Given the description of an element on the screen output the (x, y) to click on. 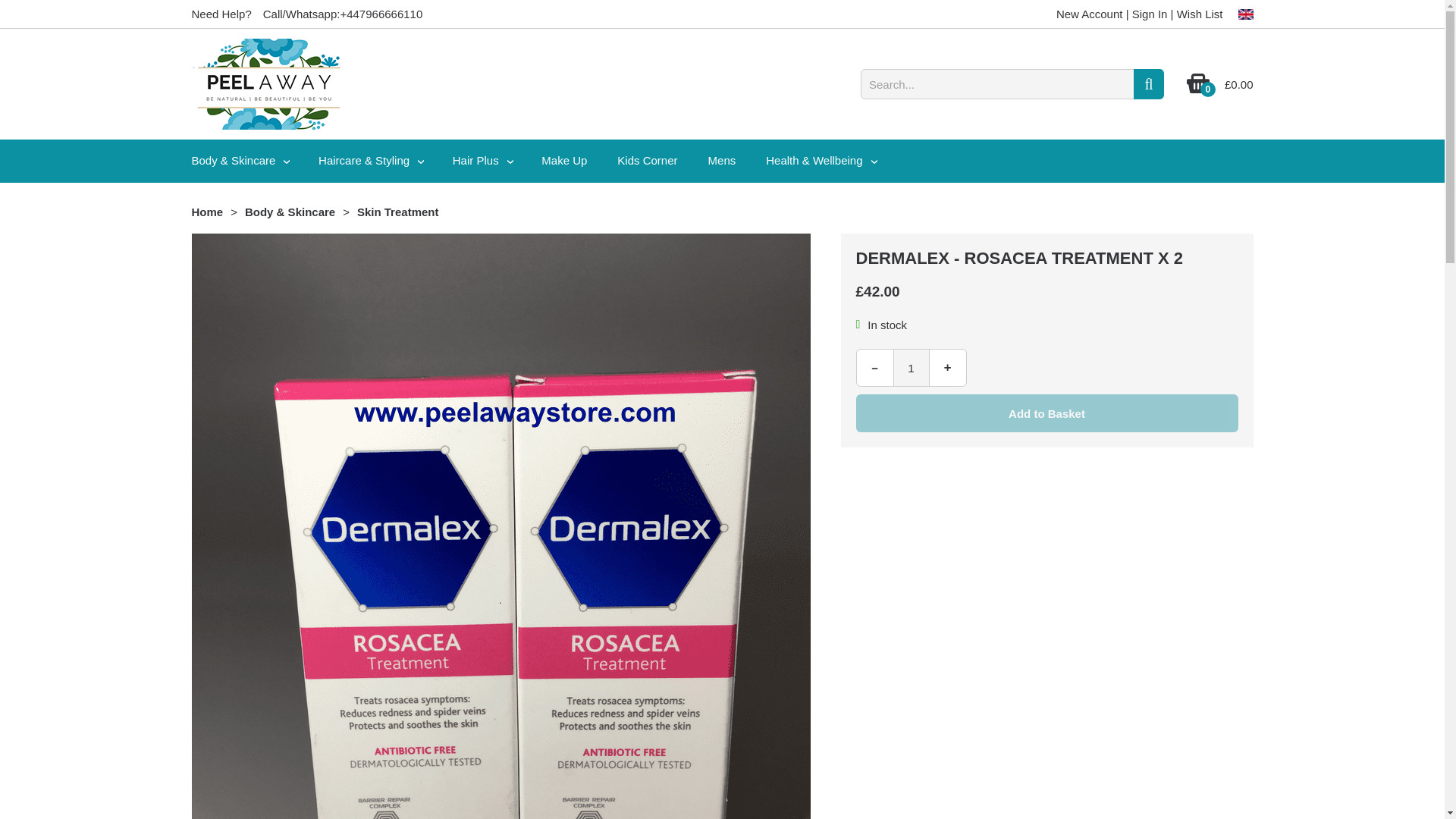
Kids Corner (647, 159)
Go (1148, 83)
Skin Treatment (397, 211)
Home (206, 211)
Mens (722, 159)
In stock (858, 324)
1 (911, 367)
Sign In (1149, 13)
Add to Basket (1046, 412)
New Account (1089, 13)
Hair Plus (482, 160)
Wish List (1199, 13)
Make Up (563, 159)
0 (1197, 89)
